Given the description of an element on the screen output the (x, y) to click on. 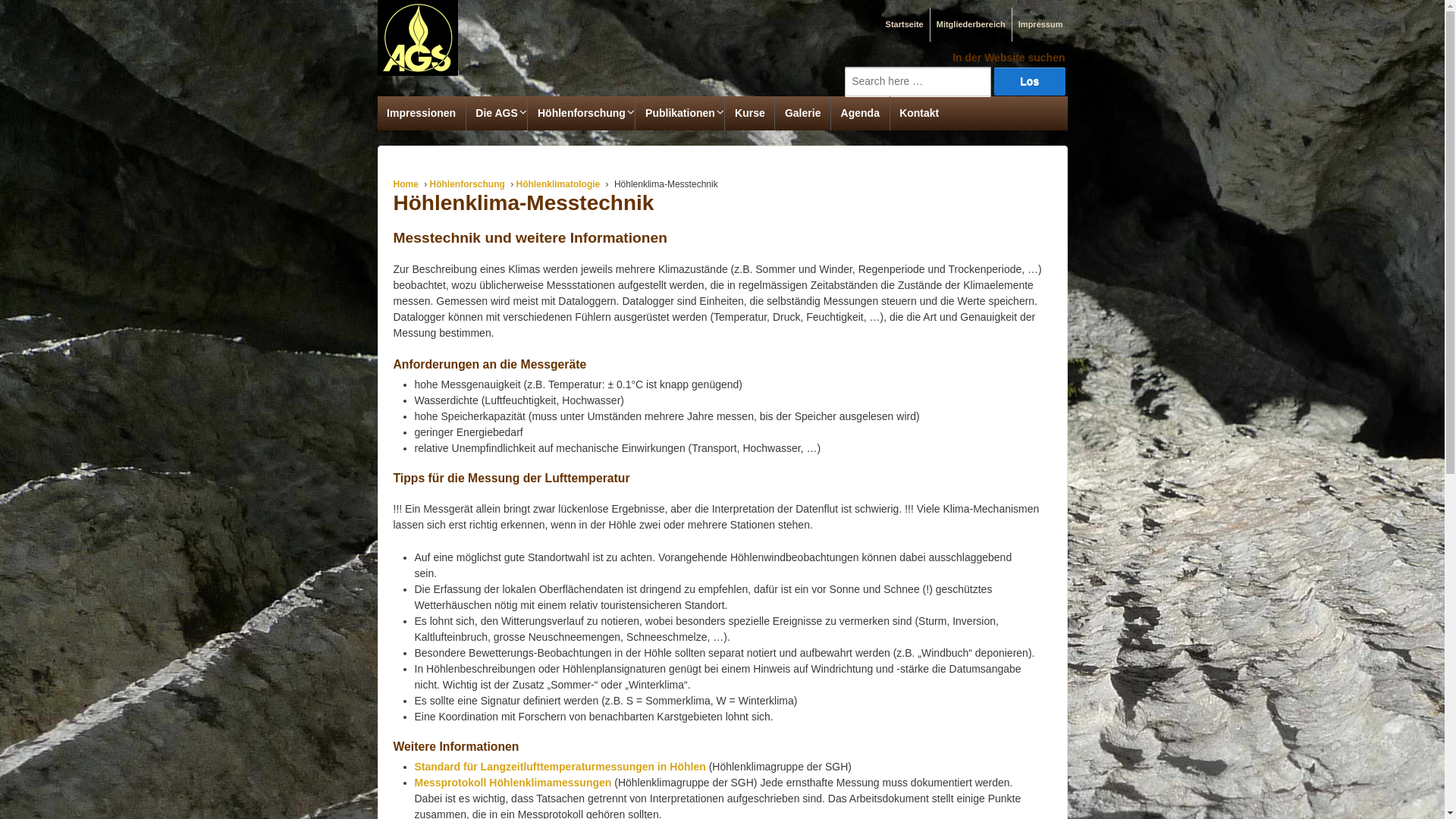
Agenda Element type: text (859, 113)
Galerie Element type: text (802, 113)
Los Element type: text (1029, 81)
Mitgliederbereich Element type: text (968, 24)
Publikationen Element type: text (679, 113)
Startseite Element type: text (902, 24)
Impressionen Element type: text (421, 113)
Impressum Element type: text (1038, 24)
Die AGS Element type: text (496, 113)
Kurse Element type: text (749, 113)
Kontakt Element type: text (918, 113)
Home Element type: text (404, 183)
